Given the description of an element on the screen output the (x, y) to click on. 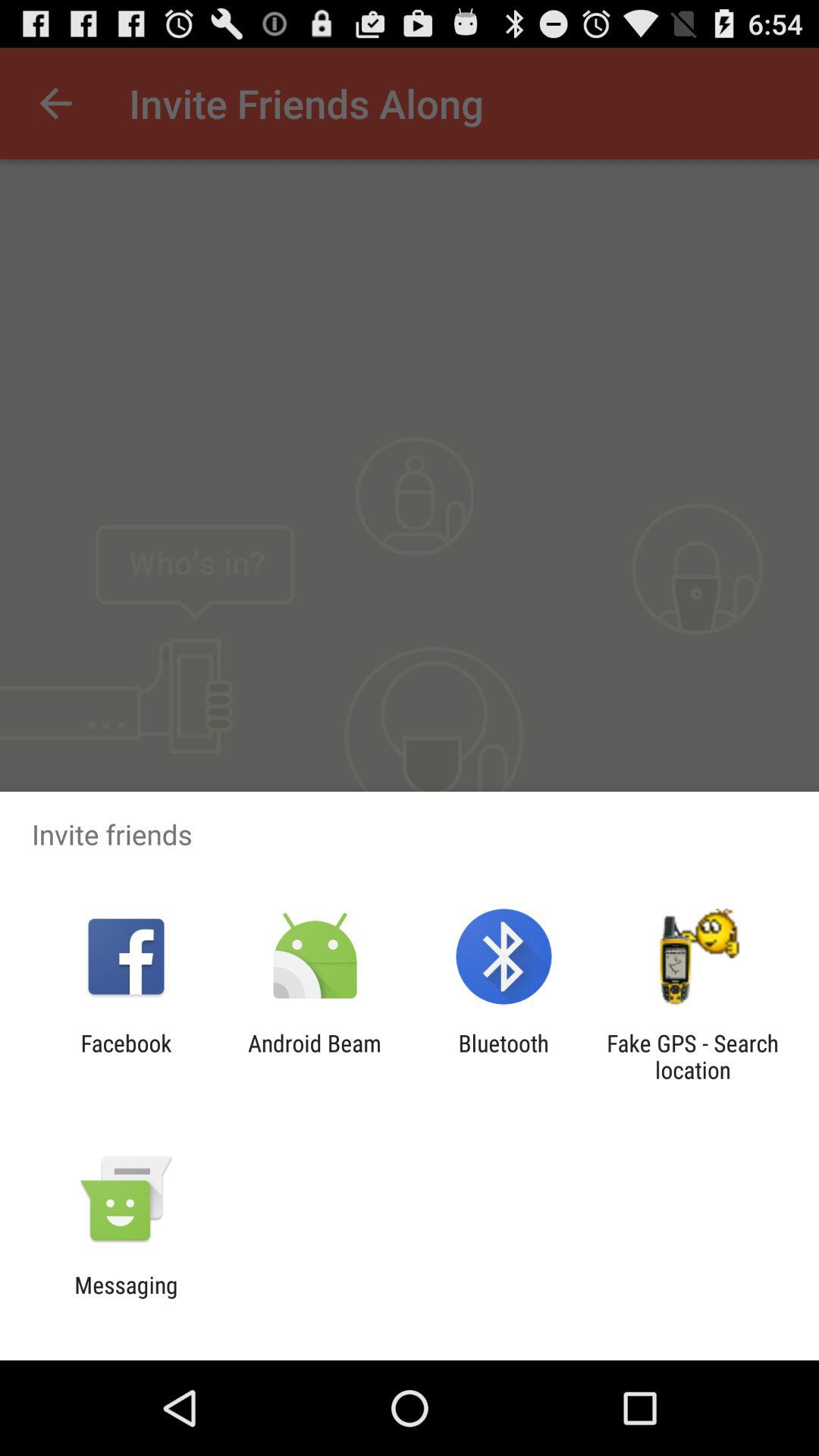
jump to the fake gps search item (692, 1056)
